Given the description of an element on the screen output the (x, y) to click on. 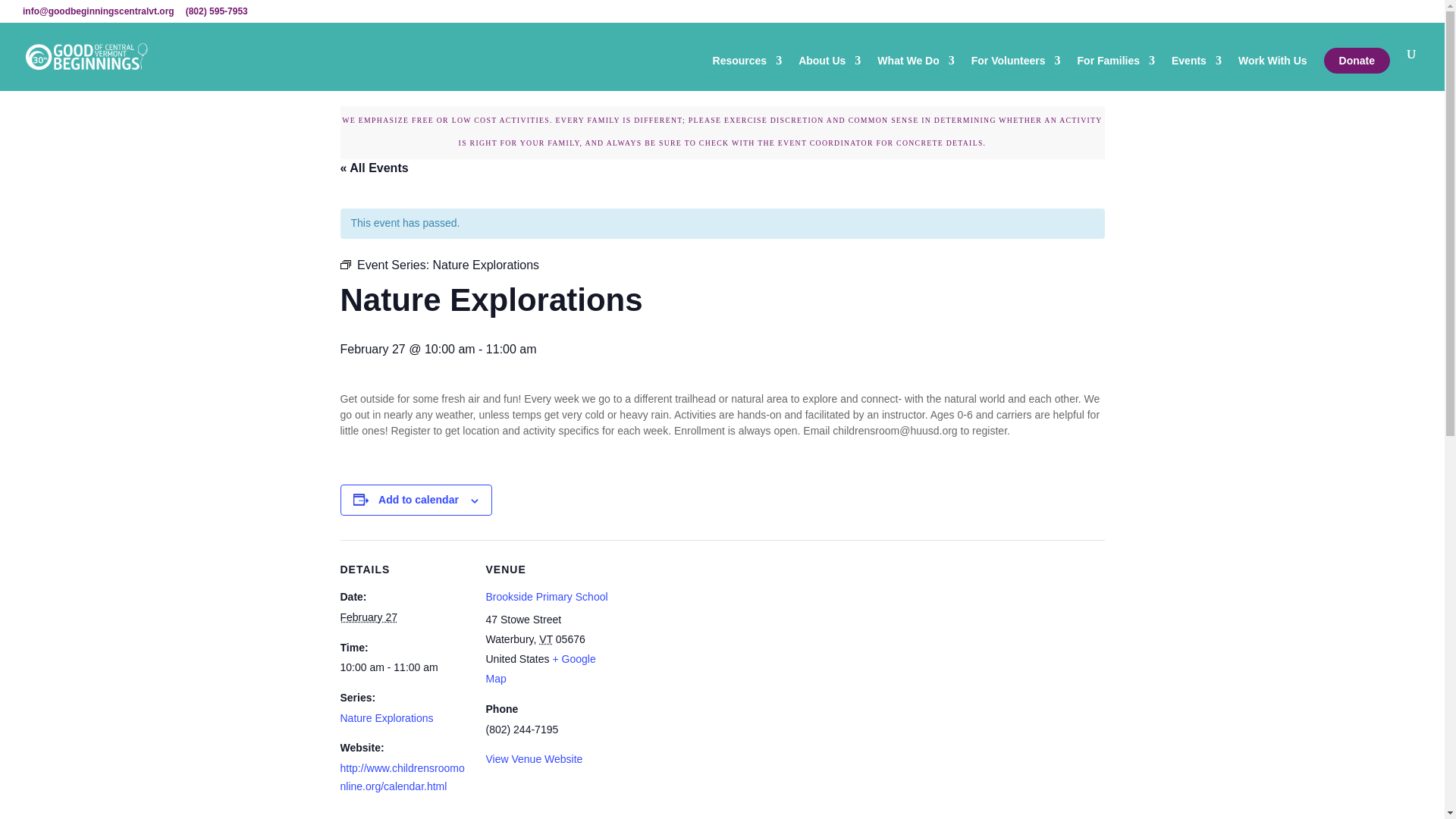
Event Series (344, 264)
For Volunteers (1016, 72)
For Families (1115, 72)
Nature Explorations (385, 717)
What We Do (915, 72)
Events (1196, 72)
Resources (748, 72)
Nature Explorations (486, 264)
About Us (828, 72)
2024-02-27 (367, 616)
Vermont (545, 639)
Work With Us (1273, 72)
2024-02-27 (403, 668)
Click to view a Google Map (539, 668)
Donate (1356, 60)
